Given the description of an element on the screen output the (x, y) to click on. 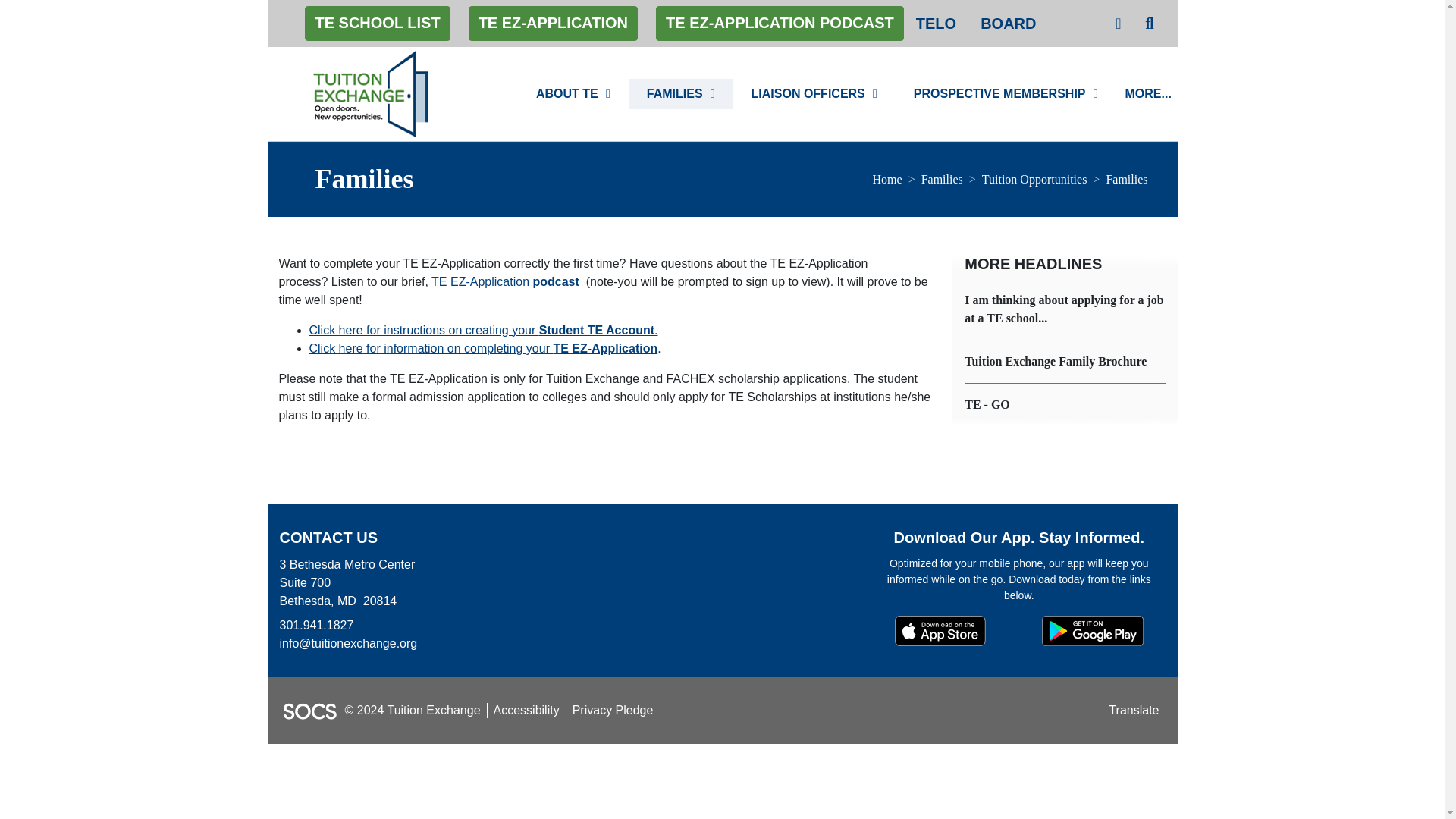
TELO (936, 22)
TE EZ-APPLICATION PODCAST (780, 22)
Sign In (1118, 22)
Tuition Exchange Logo (372, 93)
Search (1150, 22)
BOARD (1008, 22)
Sign In Link (1118, 22)
ABOUT TE (573, 93)
Home (372, 93)
TOGGLE DROPDOWN (613, 93)
TE EZ-APPLICATION (552, 22)
TE SCHOOL LIST (376, 22)
Home (887, 178)
